Given the description of an element on the screen output the (x, y) to click on. 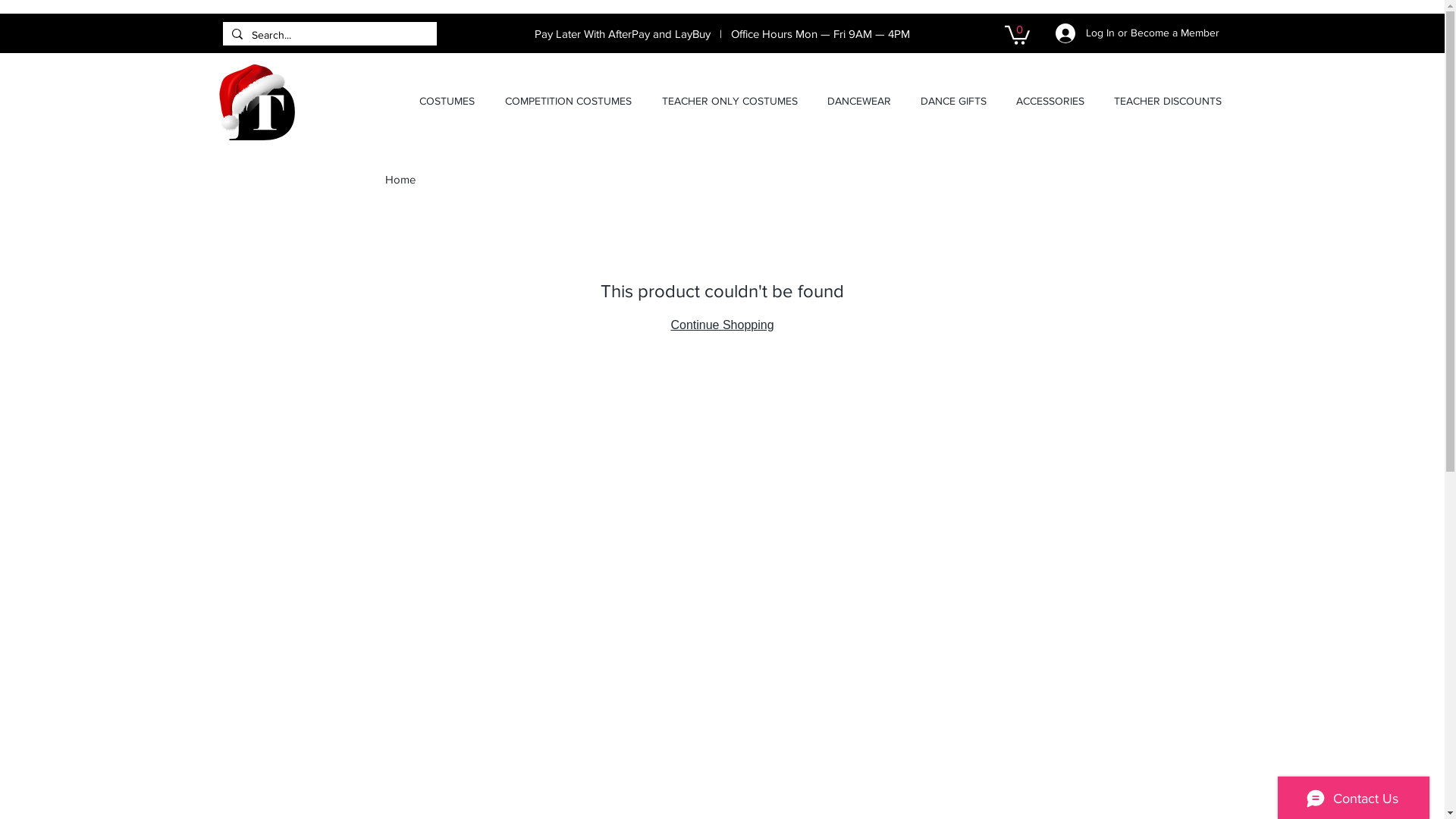
0 Element type: text (1016, 33)
ACCESSORIES Element type: text (1049, 100)
Continue Shopping Element type: text (721, 324)
COMPETITION COSTUMES Element type: text (567, 100)
TEACHER ONLY COSTUMES Element type: text (729, 100)
DANCE GIFTS Element type: text (953, 100)
Santa-HAt.png Element type: hover (252, 100)
COSTUMES Element type: text (446, 100)
Log In or Become a Member Element type: text (1137, 32)
DANCEWEAR Element type: text (859, 100)
TEACHER DISCOUNTS Element type: text (1167, 100)
Home Element type: text (400, 178)
